Given the description of an element on the screen output the (x, y) to click on. 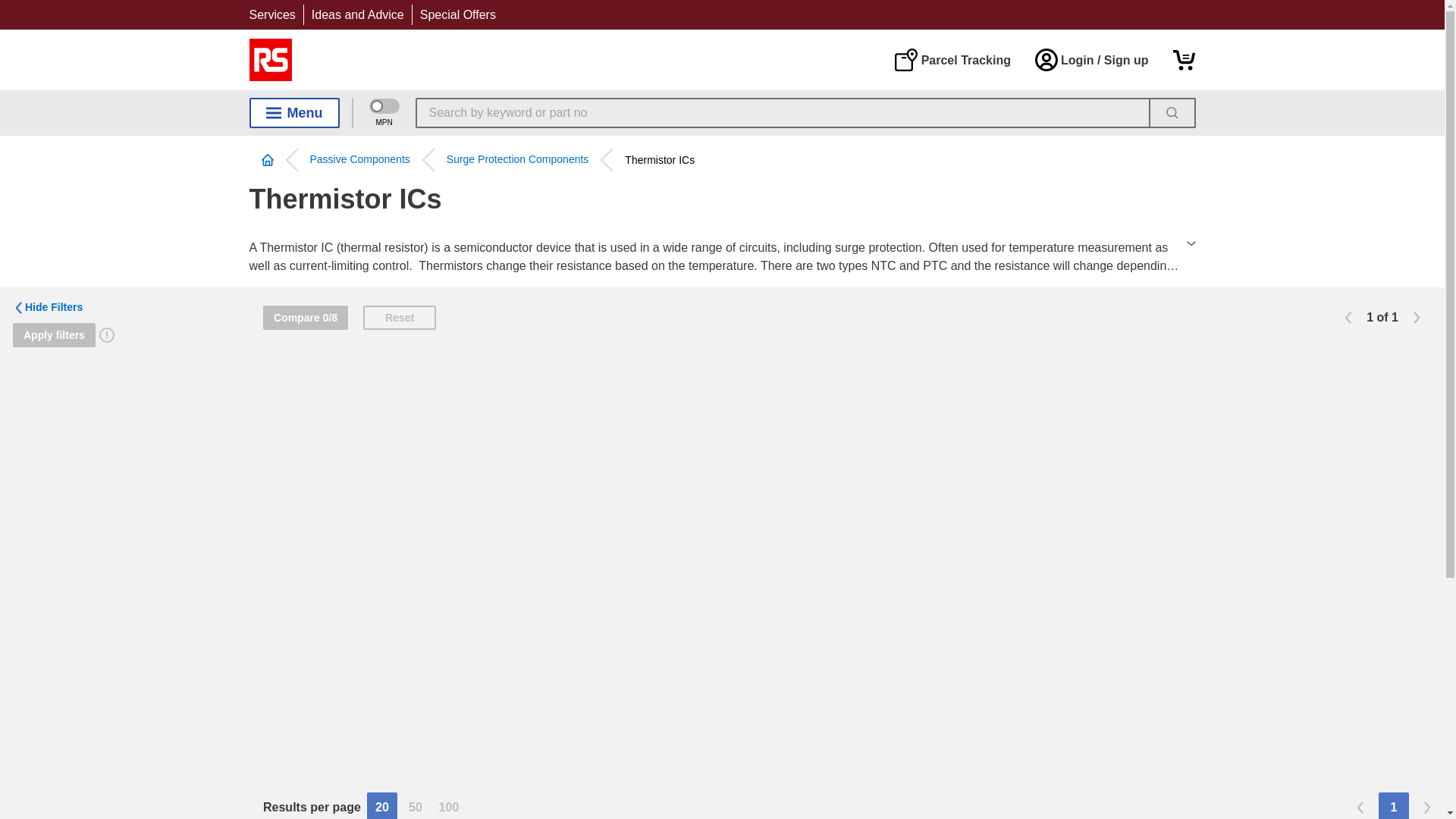
Ideas and Advice (357, 14)
Special Offers (458, 14)
Services (271, 14)
Parcel Tracking (951, 59)
Menu (293, 112)
